Given the description of an element on the screen output the (x, y) to click on. 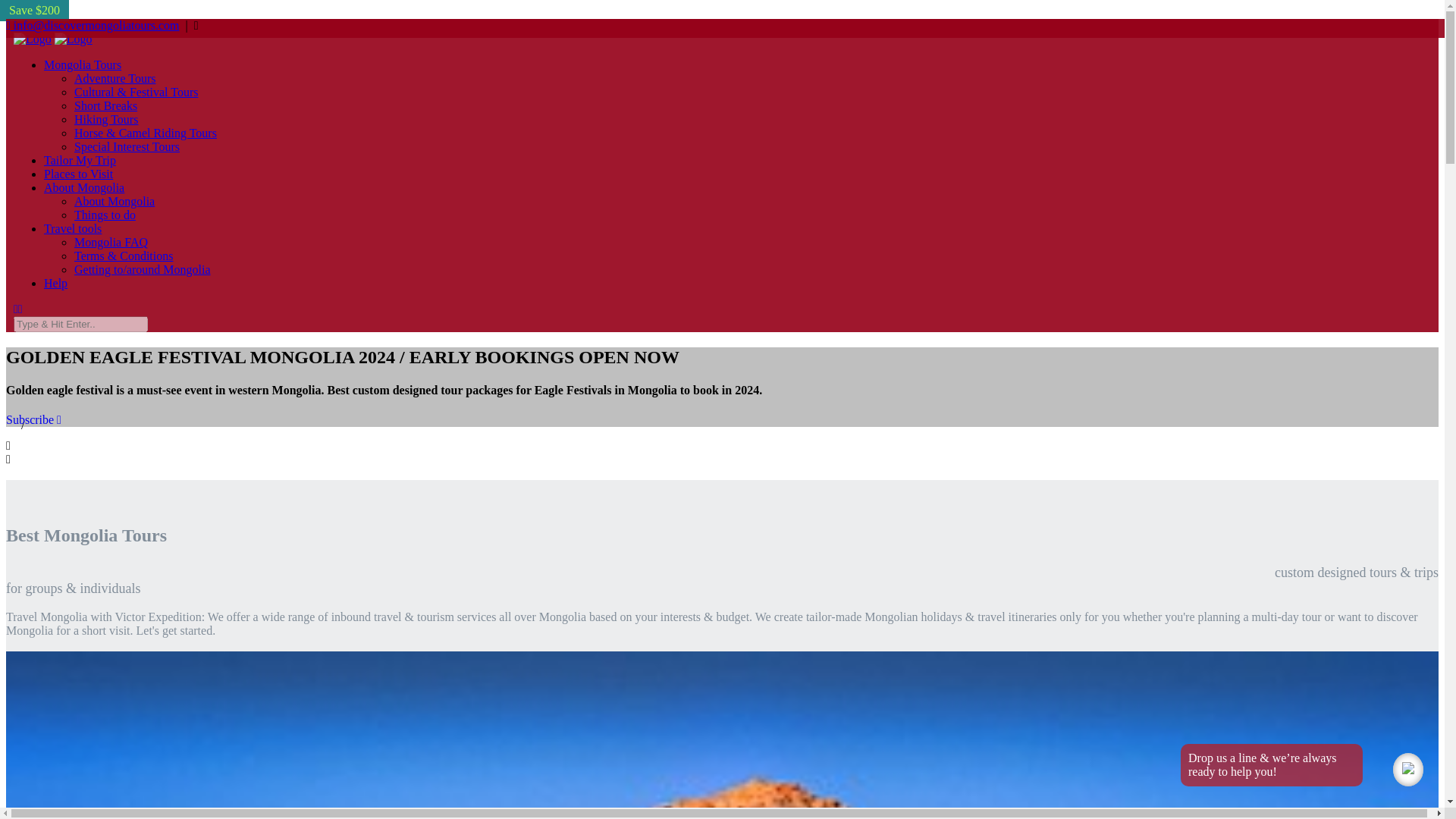
Subscribe (33, 419)
About Mongolia (83, 187)
Help (54, 282)
Tailor My Trip (79, 160)
Hiking Tours (106, 119)
Adventure Tours (114, 78)
Travel tools (72, 228)
Mongolia FAQ (111, 241)
Special Interest Tours (126, 146)
Things to do (104, 214)
Places to Visit (78, 173)
About Mongolia (114, 201)
Short Breaks (105, 105)
Mongolia Tours (81, 64)
